Given the description of an element on the screen output the (x, y) to click on. 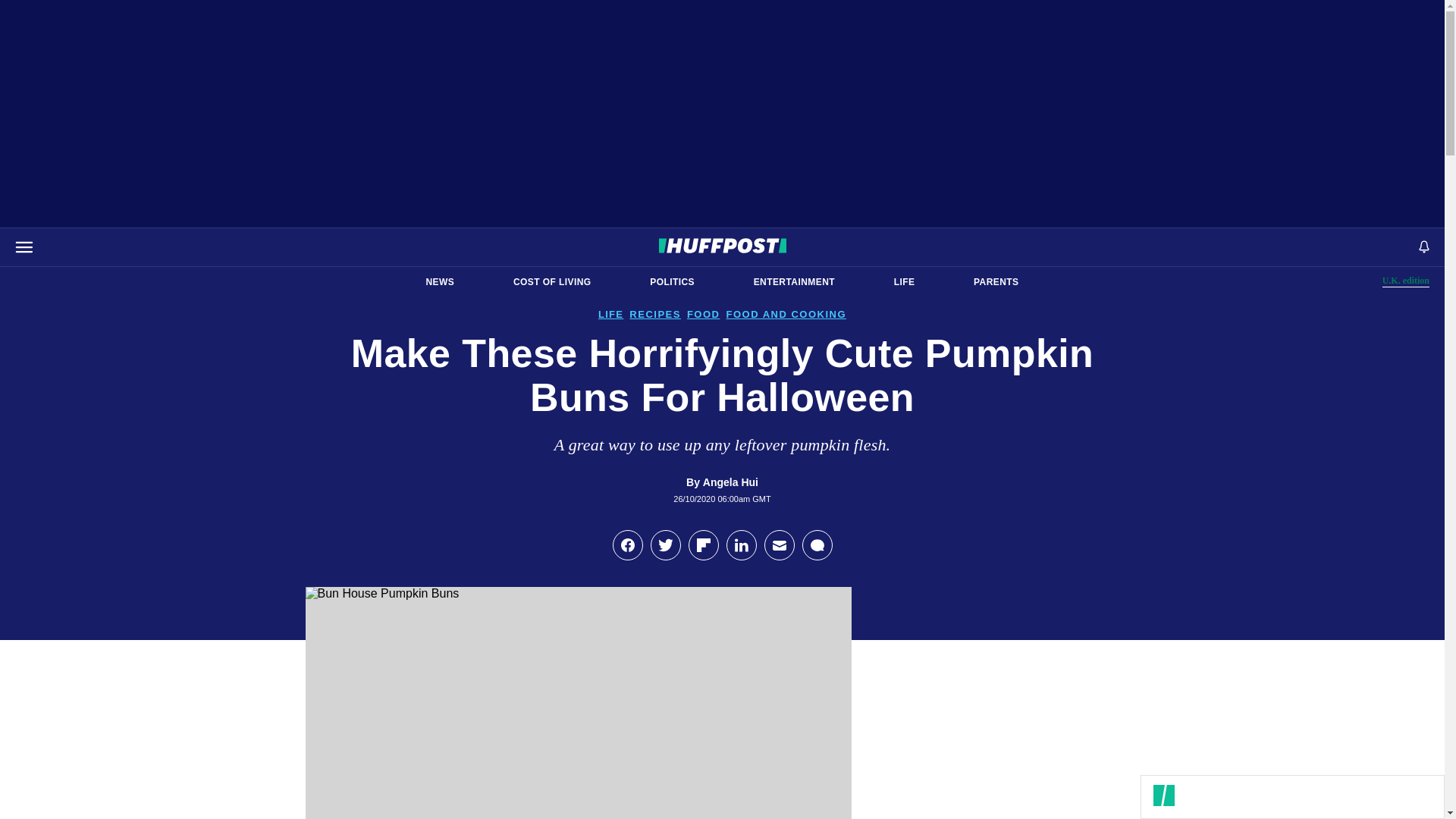
COST OF LIVING (552, 281)
POLITICS (671, 281)
PARENTS (1405, 281)
LIFE (995, 281)
ENTERTAINMENT (904, 281)
NEWS (794, 281)
